Given the description of an element on the screen output the (x, y) to click on. 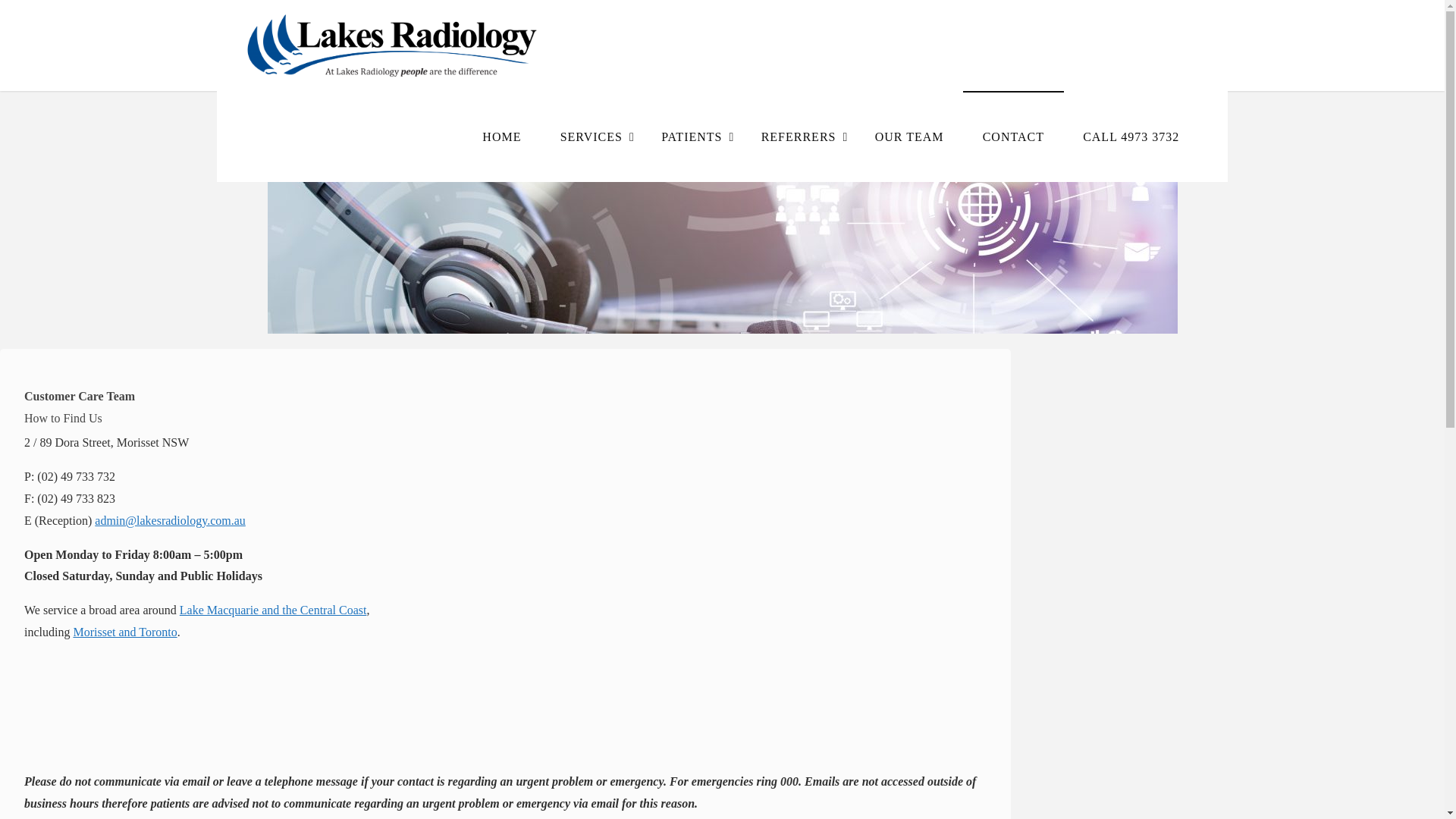
Lakes Radiology (393, 44)
